Given the description of an element on the screen output the (x, y) to click on. 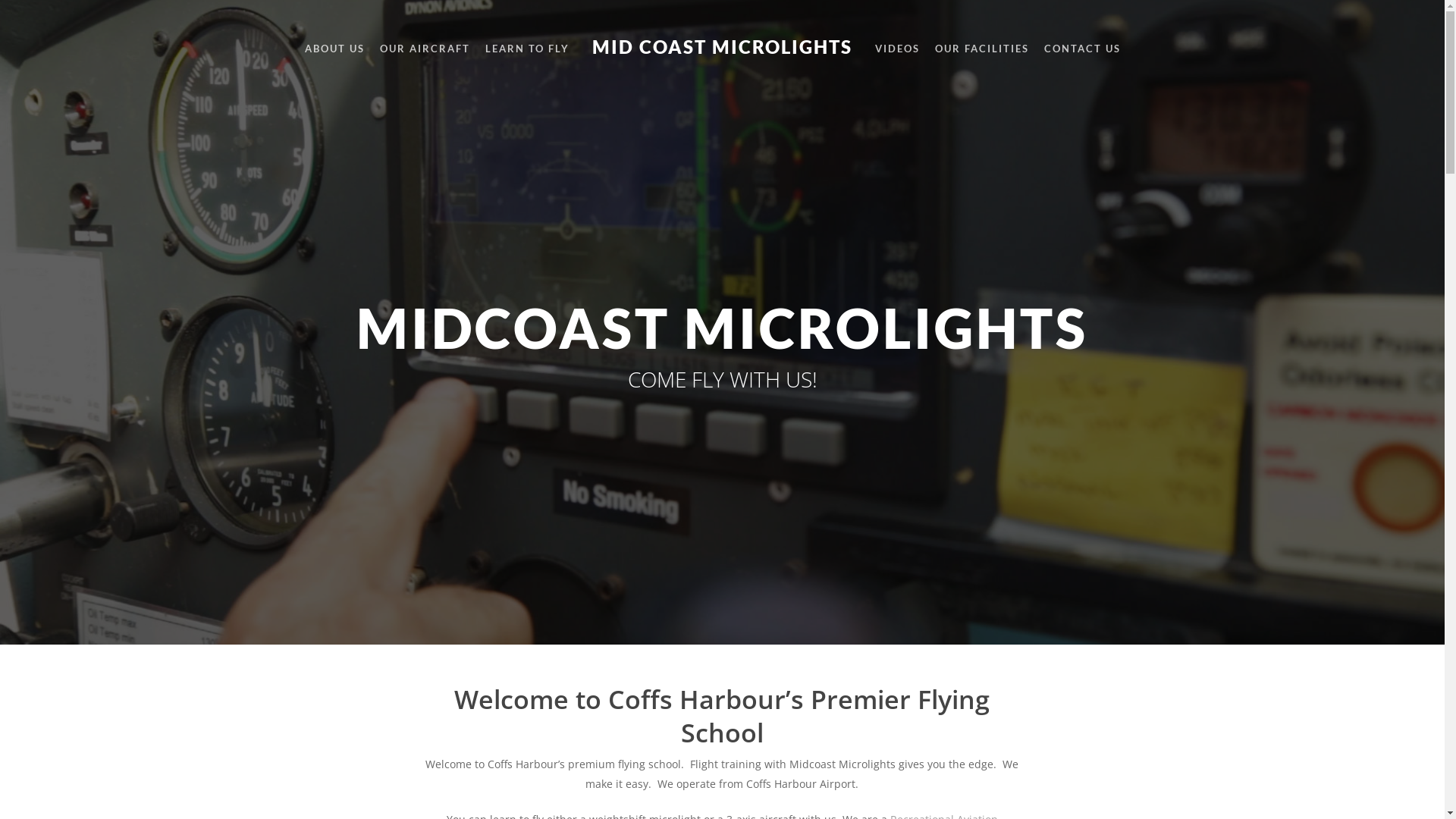
VIDEOS Element type: text (897, 48)
LEARN TO FLY Element type: text (527, 48)
MID COAST MICROLIGHTS Element type: text (722, 38)
OUR AIRCRAFT Element type: text (424, 48)
ABOUT US Element type: text (334, 48)
CONTACT US Element type: text (1081, 48)
OUR FACILITIES Element type: text (981, 48)
